Given the description of an element on the screen output the (x, y) to click on. 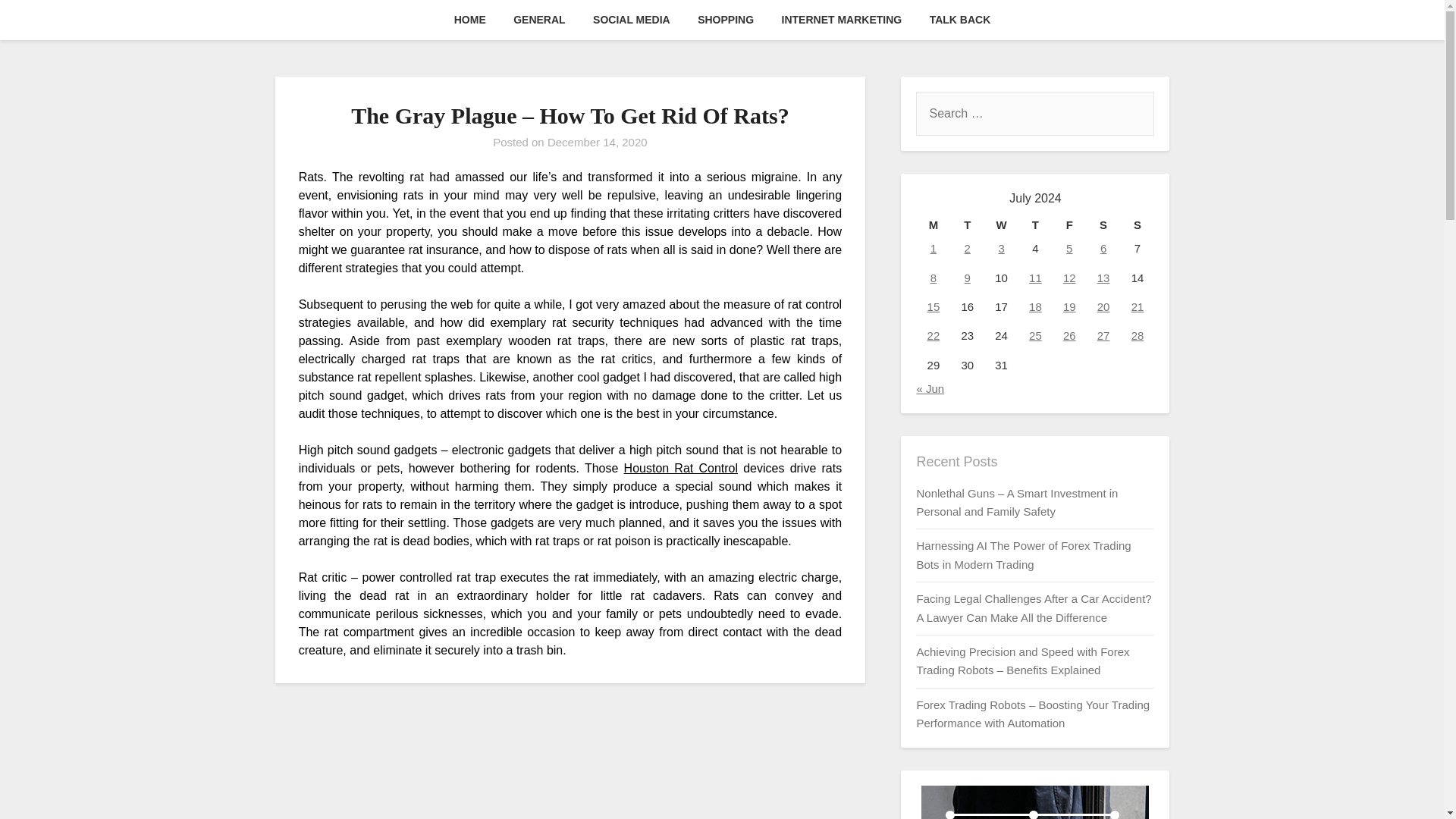
Monday (932, 225)
15 (933, 306)
25 (1035, 335)
SOCIAL MEDIA (631, 20)
28 (1137, 335)
GENERAL (538, 20)
SHOPPING (725, 20)
19 (1068, 306)
21 (1137, 306)
Search (37, 22)
December 14, 2020 (597, 141)
Wednesday (1000, 225)
Friday (1069, 225)
